Given the description of an element on the screen output the (x, y) to click on. 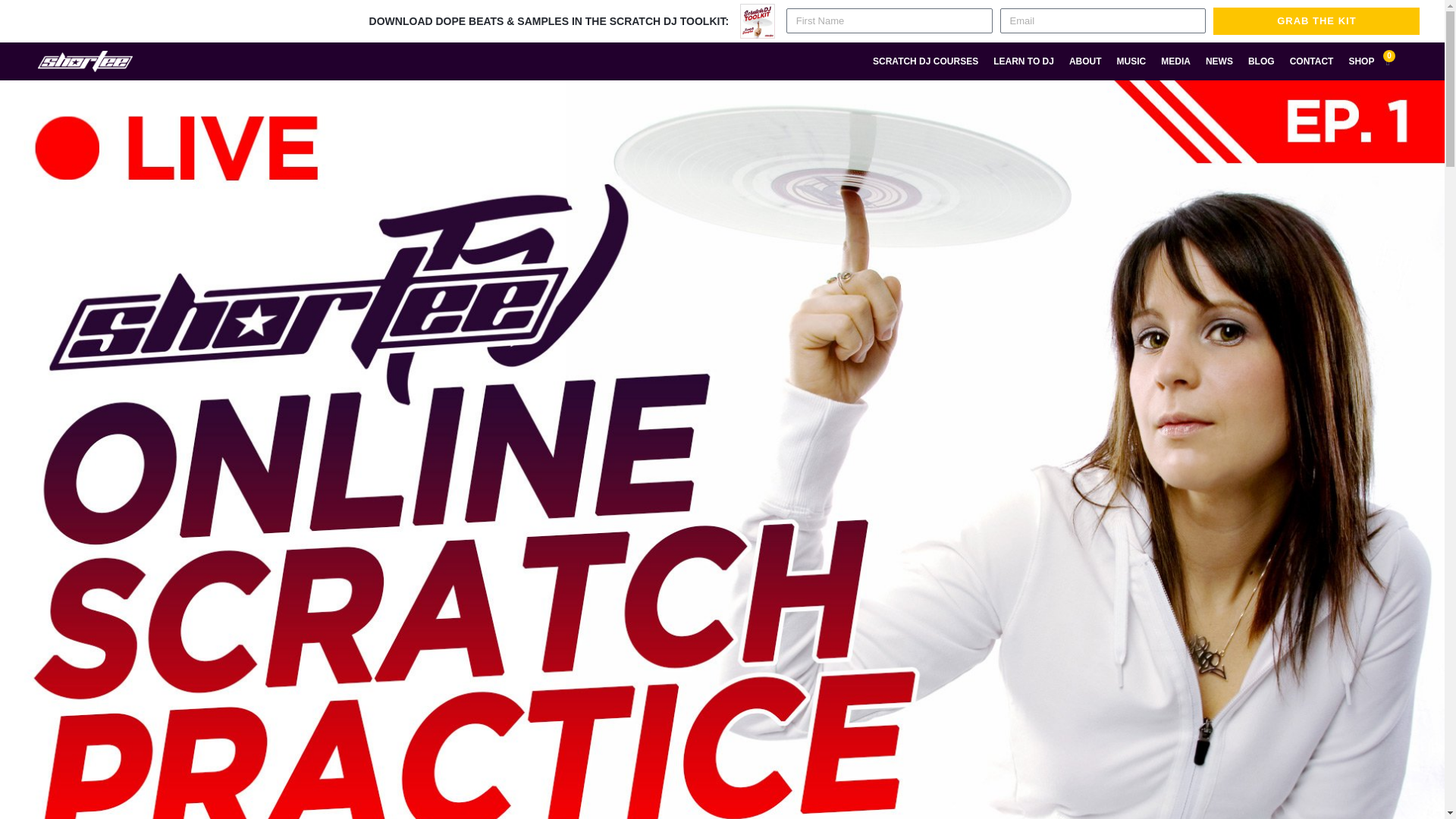
BLOG (1261, 60)
SCRATCH DJ COURSES (924, 60)
SHOP (1360, 60)
NEWS (1219, 60)
CONTACT (1311, 60)
MEDIA (1175, 60)
LEARN TO DJ (1023, 60)
MUSIC (1131, 60)
ABOUT (1085, 60)
GRAB THE KIT (1315, 21)
